Given the description of an element on the screen output the (x, y) to click on. 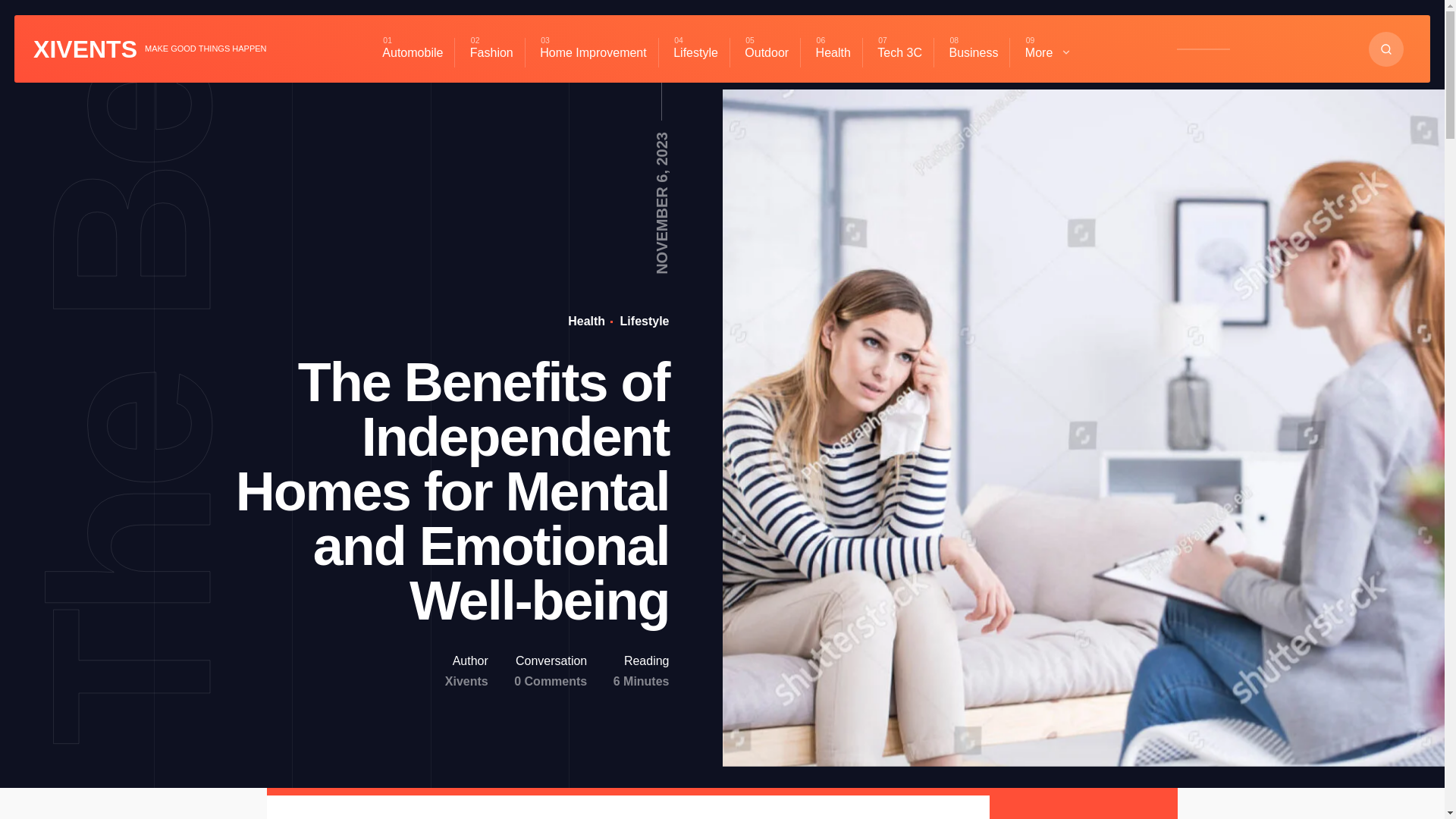
More (1048, 52)
Lifestyle (695, 52)
XIVENTS (84, 49)
Xivents (466, 680)
0 Comments (549, 680)
Business (973, 52)
Home Improvement (593, 52)
Automobile (412, 52)
Health (586, 320)
Tech 3C (899, 52)
Outdoor (766, 52)
Fashion (491, 52)
Health (833, 52)
Lifestyle (641, 320)
